Given the description of an element on the screen output the (x, y) to click on. 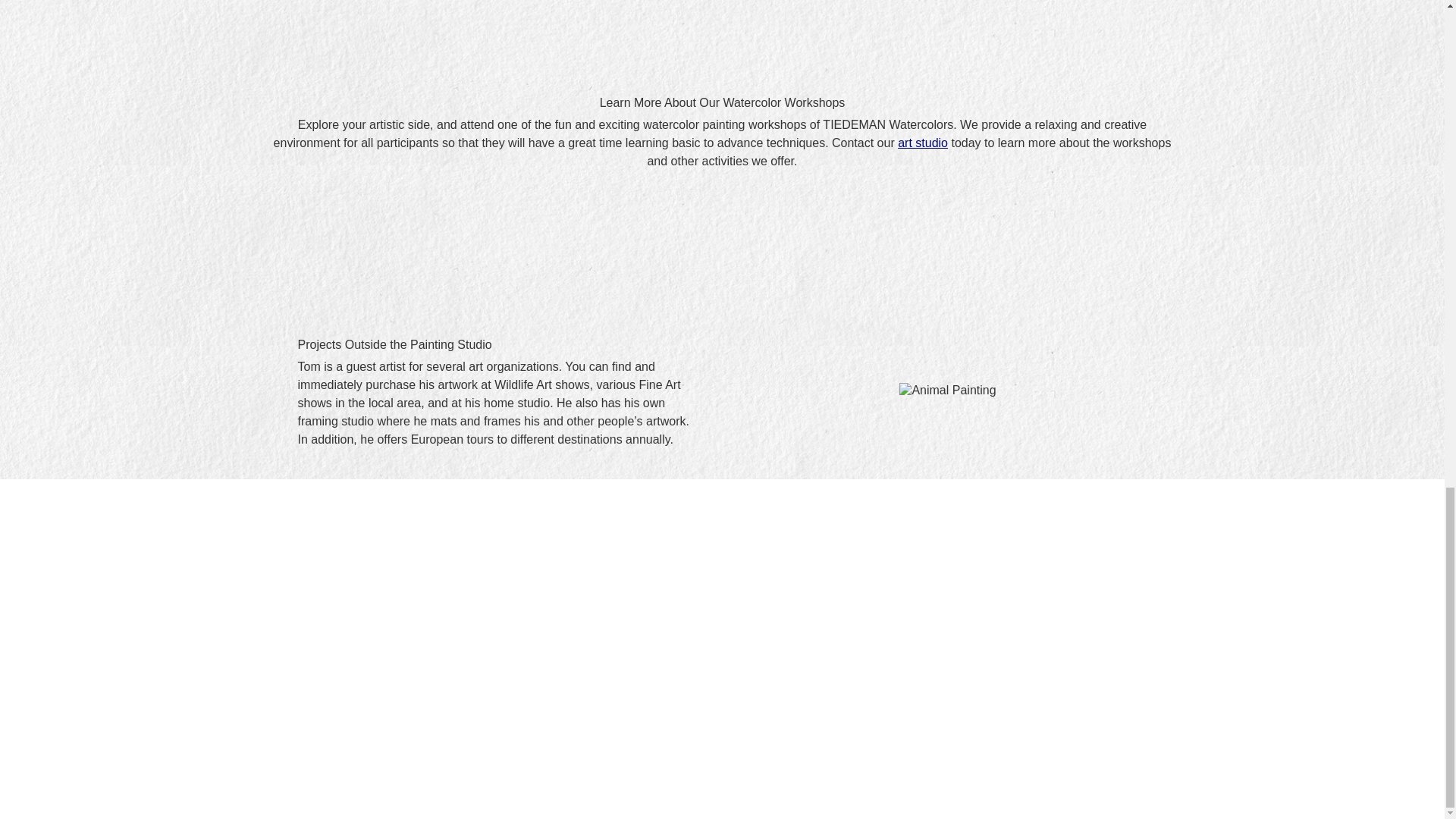
art studio (922, 142)
760-505-7681 (614, 753)
 Animal Painting  (947, 390)
